Given the description of an element on the screen output the (x, y) to click on. 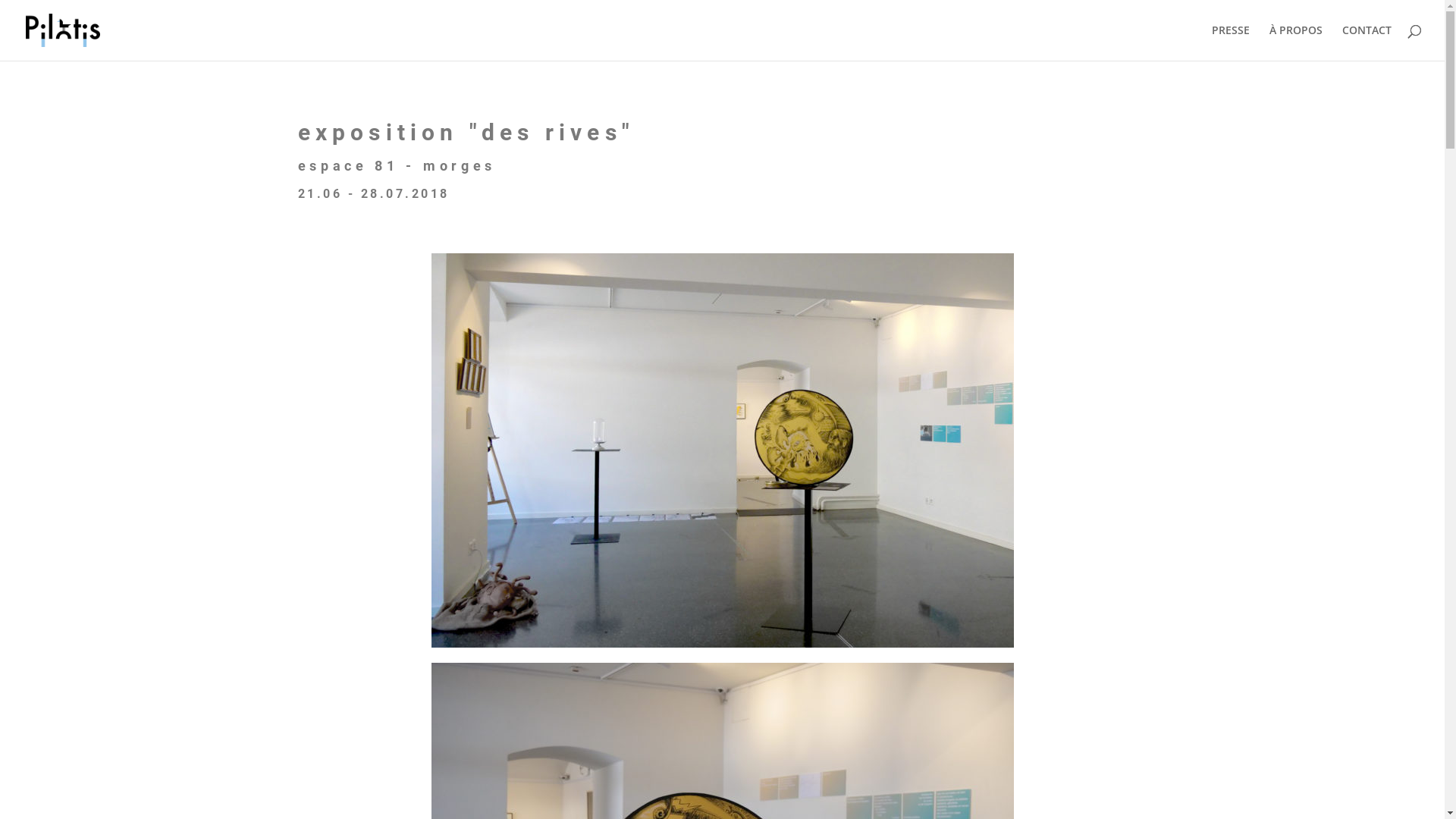
PRESSE Element type: text (1230, 42)
CONTACT Element type: text (1366, 42)
